Given the description of an element on the screen output the (x, y) to click on. 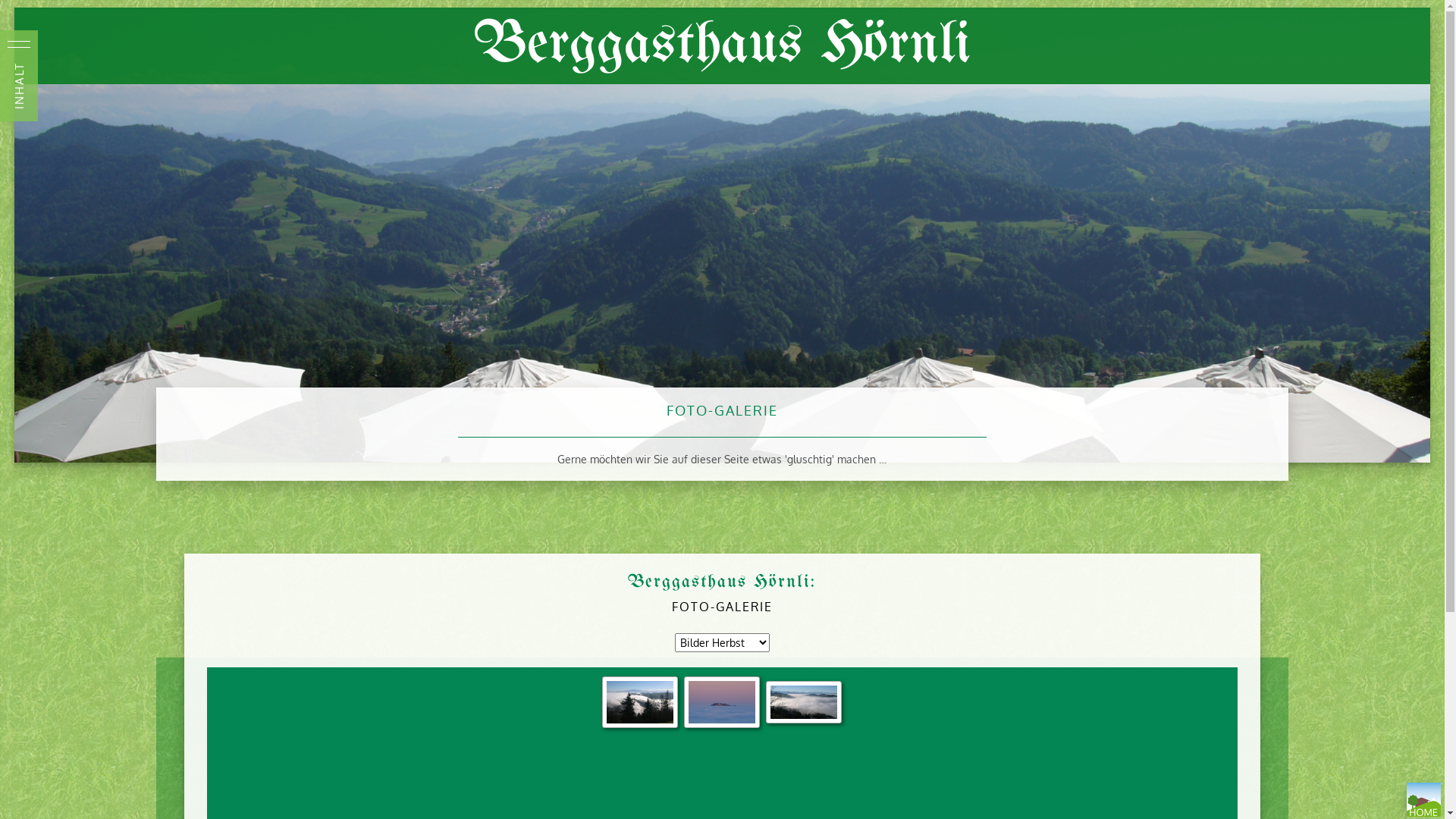
Bild gross ansehen Element type: hover (639, 702)
Bild gross ansehen Element type: hover (803, 701)
Bild gross ansehen Element type: hover (721, 702)
